Given the description of an element on the screen output the (x, y) to click on. 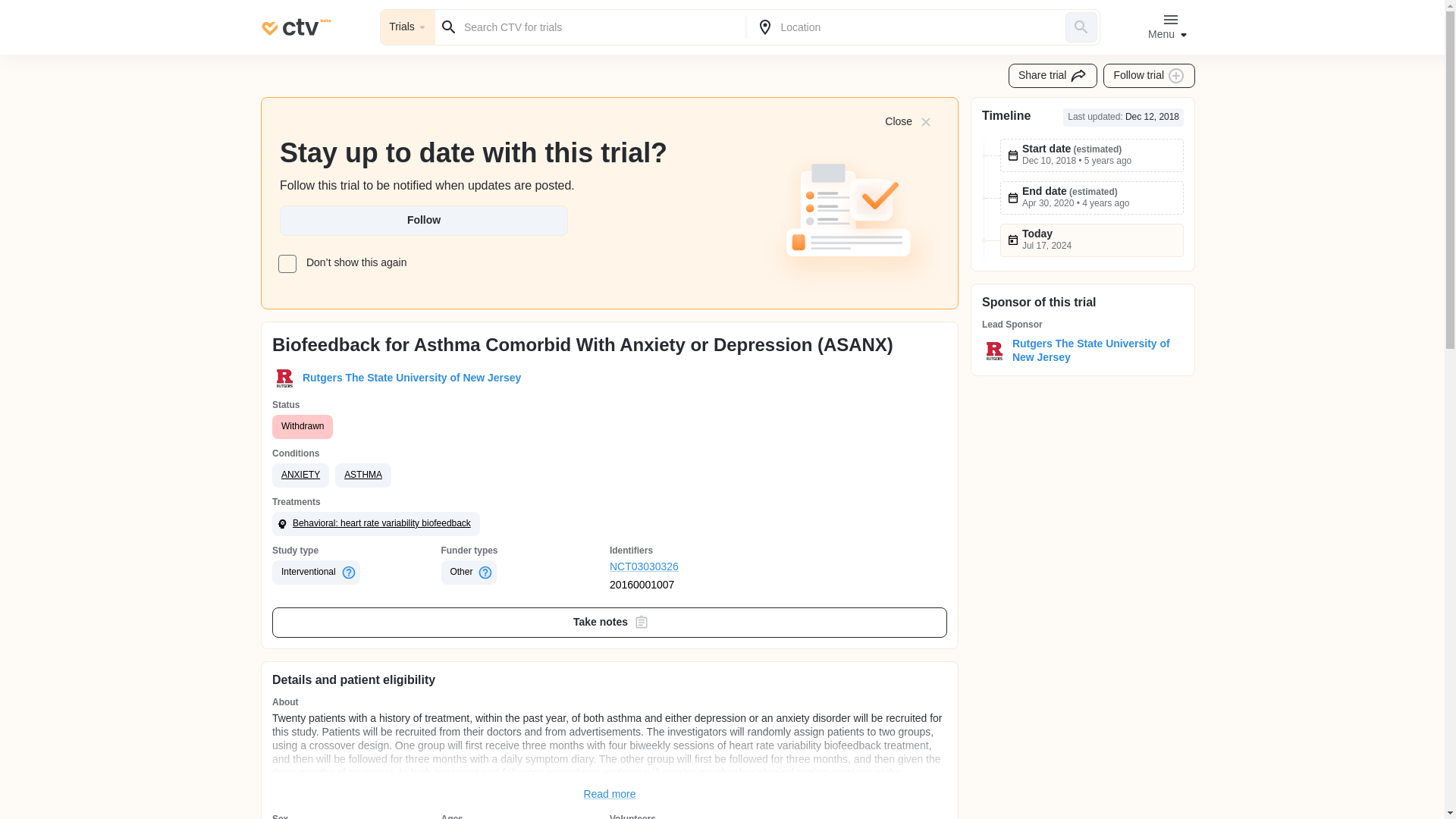
Follow trial (1149, 75)
Take notes (609, 622)
NCT03030326 (694, 567)
Rutgers The State University of New Jersey (409, 377)
Read more (609, 794)
Trials (407, 27)
Share trial (1053, 75)
Follow (423, 220)
Rutgers The State University of New Jersey (1094, 350)
Close (907, 121)
